Given the description of an element on the screen output the (x, y) to click on. 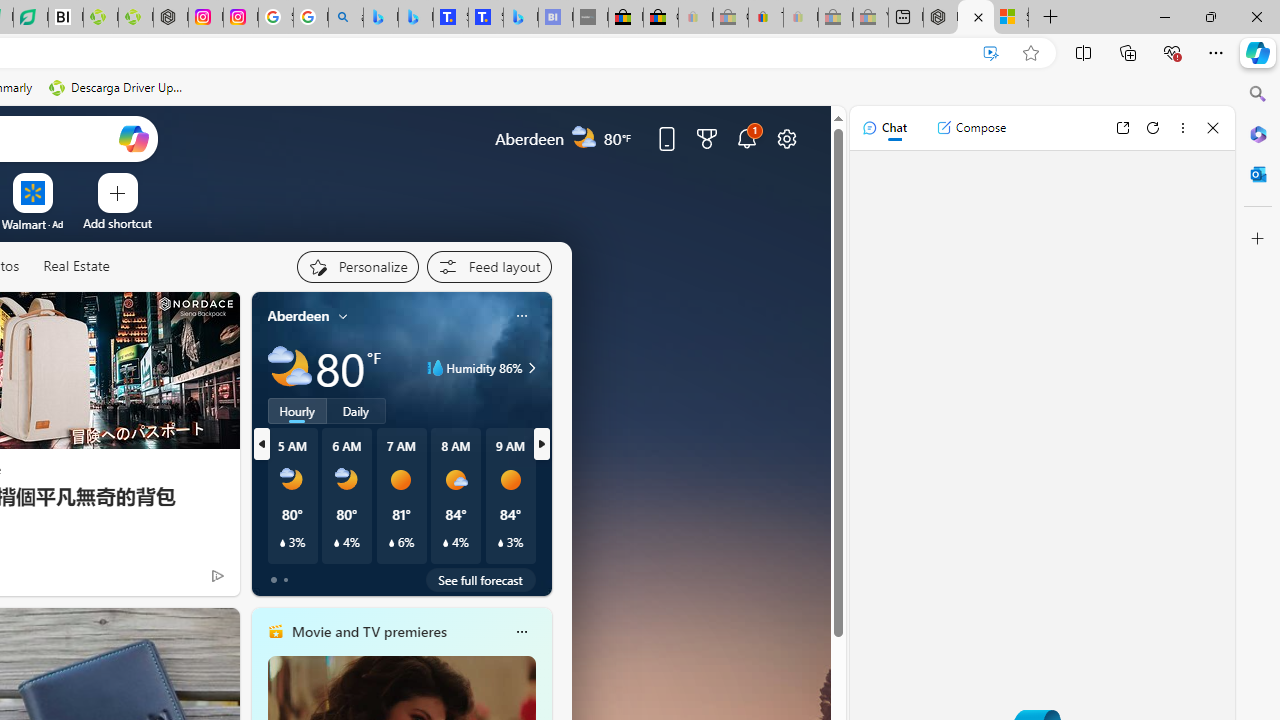
Shangri-La Bangkok, Hotel reviews and Room rates (485, 17)
Movie and TV premieres (368, 631)
Press Room - eBay Inc. - Sleeping (835, 17)
previous (261, 443)
next (541, 443)
Humidity 86% (529, 367)
